Given the description of an element on the screen output the (x, y) to click on. 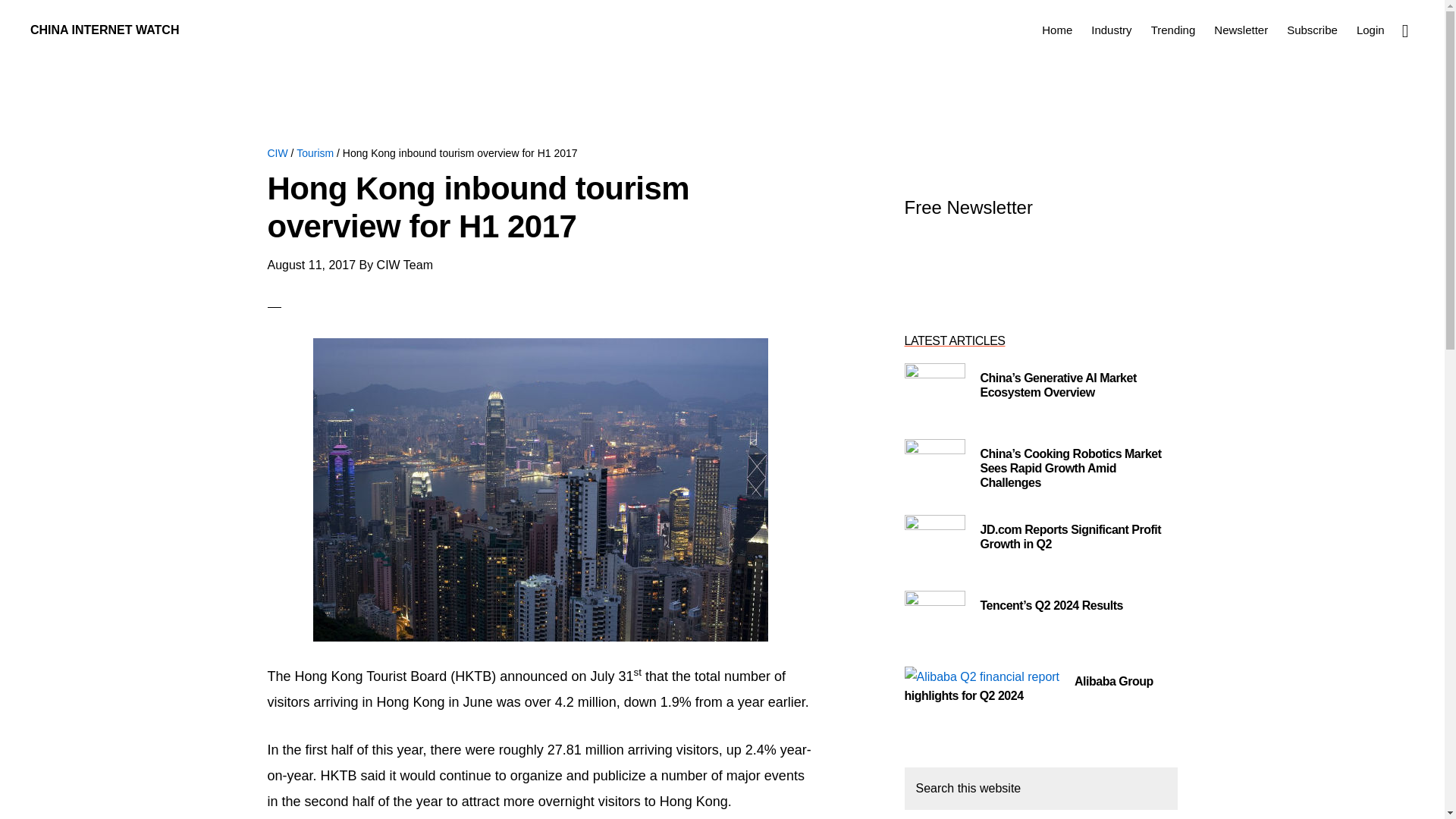
CHINA INTERNET WATCH (104, 29)
Industry (1110, 29)
Home (1056, 29)
